Given the description of an element on the screen output the (x, y) to click on. 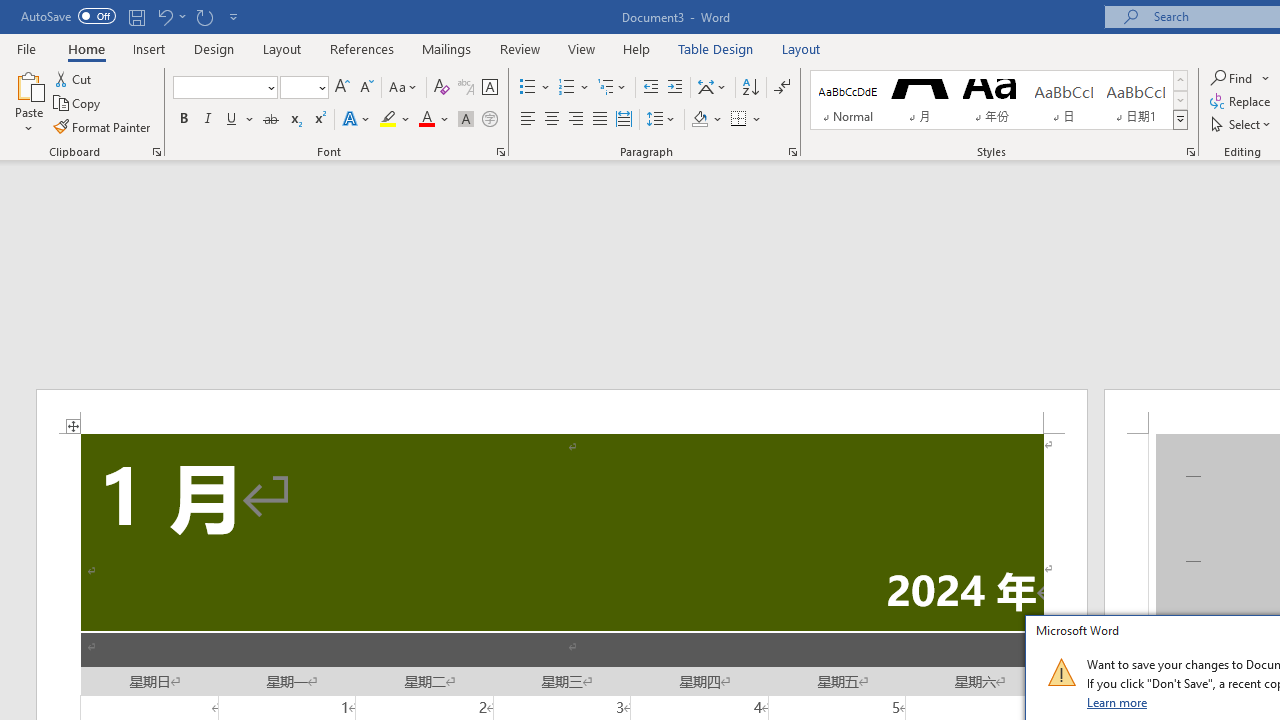
More Options (1266, 78)
Align Right (575, 119)
Bullets (535, 87)
Insert (149, 48)
Styles... (1190, 151)
Italic (207, 119)
Design (214, 48)
Justify (599, 119)
Borders (746, 119)
Save (136, 15)
AutoSave (68, 16)
Paste (28, 84)
Increase Indent (675, 87)
Font Size (297, 87)
Clear Formatting (442, 87)
